Given the description of an element on the screen output the (x, y) to click on. 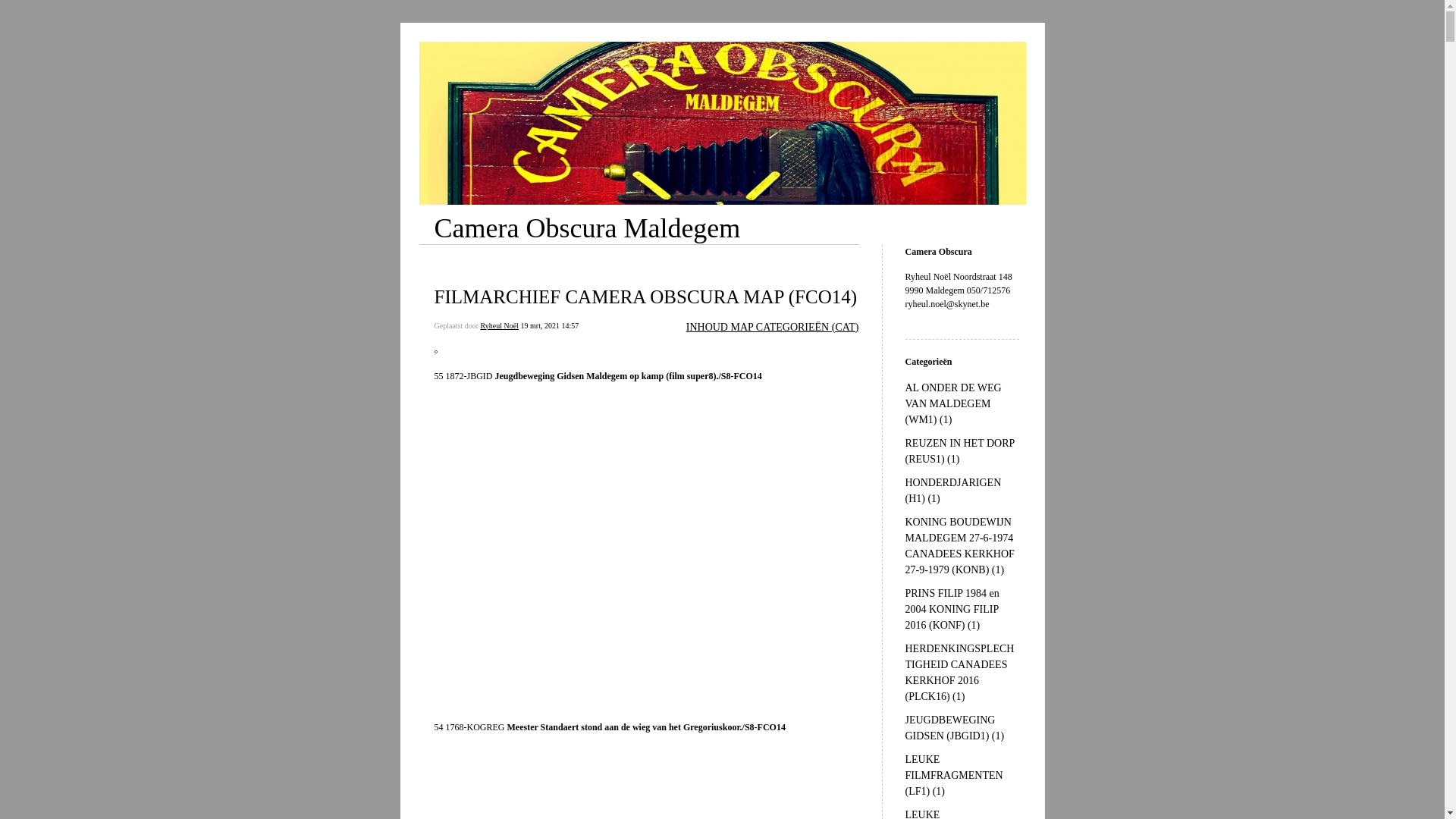
FILMARCHIEF CAMERA OBSCURA MAP (FCO14) Element type: text (644, 296)
HERDENKINGSPLECHTIGHEID CANADEES KERKHOF 2016 (PLCK16) (1) Element type: text (959, 672)
JEUGDBEWEGING GIDSEN (JBGID1) (1) Element type: text (954, 727)
Camera Obscura Maldegem Element type: text (586, 228)
REUZEN IN HET DORP (REUS1) (1) Element type: text (959, 450)
HONDERDJARIGEN (H1) (1) Element type: text (953, 490)
19 mrt, 2021 14:57 Element type: text (549, 325)
PRINS FILIP 1984 en 2004 KONING FILIP 2016 (KONF) (1) Element type: text (952, 608)
AL ONDER DE WEG VAN MALDEGEM (WM1) (1) Element type: text (953, 403)
LEUKE FILMFRAGMENTEN (LF1) (1) Element type: text (954, 775)
